Given the description of an element on the screen output the (x, y) to click on. 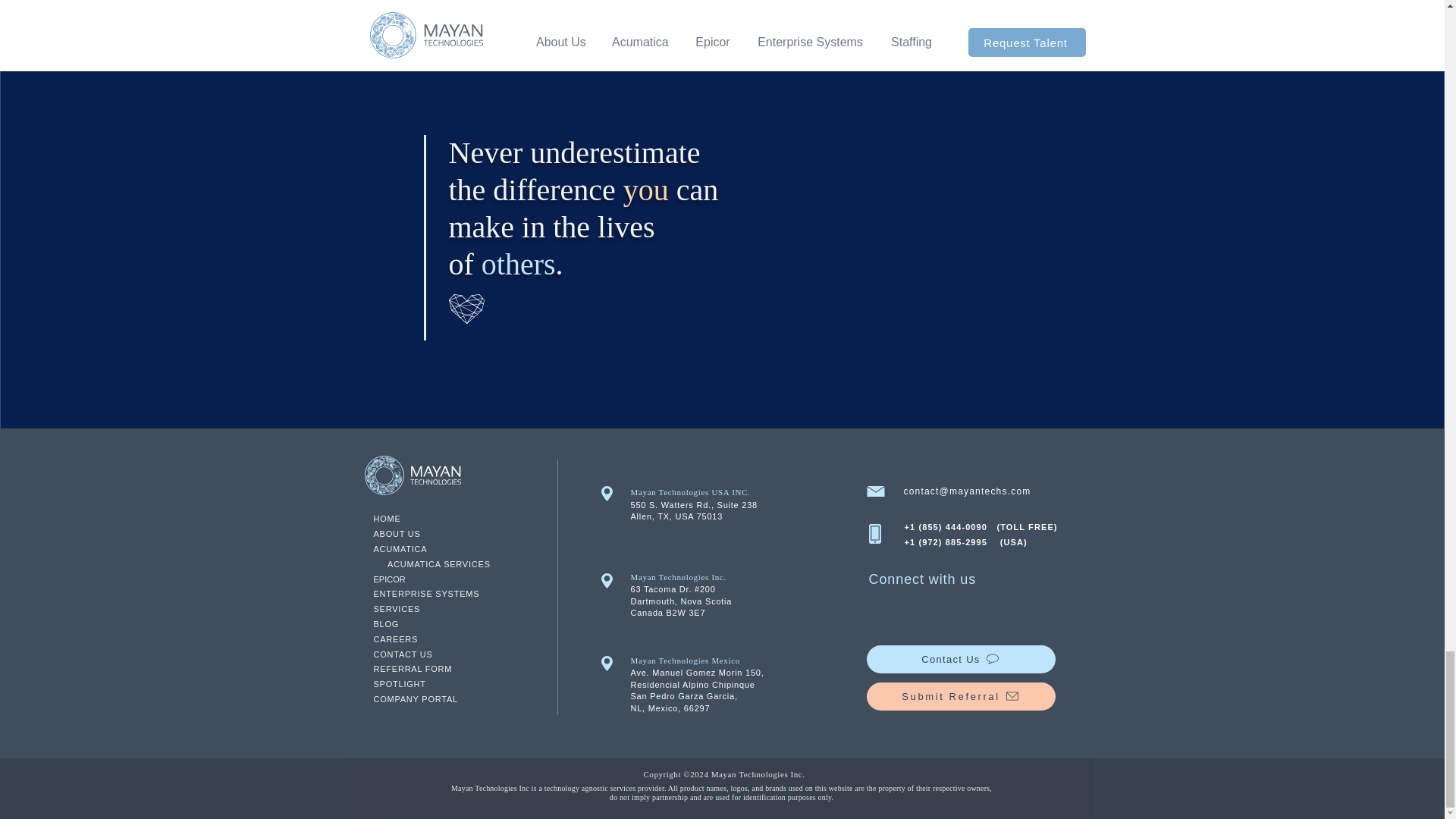
550 S. Watters Rd., Suite 238 (693, 504)
CONTACT US (402, 654)
CAREERS (394, 638)
SERVICES (396, 608)
Mayan Technologies Mexico (684, 660)
ACUMATICA (399, 548)
COMPANY PORTAL (414, 698)
ABOUT US (396, 533)
BLOG (385, 623)
SPOTLIGHT (398, 683)
